Given the description of an element on the screen output the (x, y) to click on. 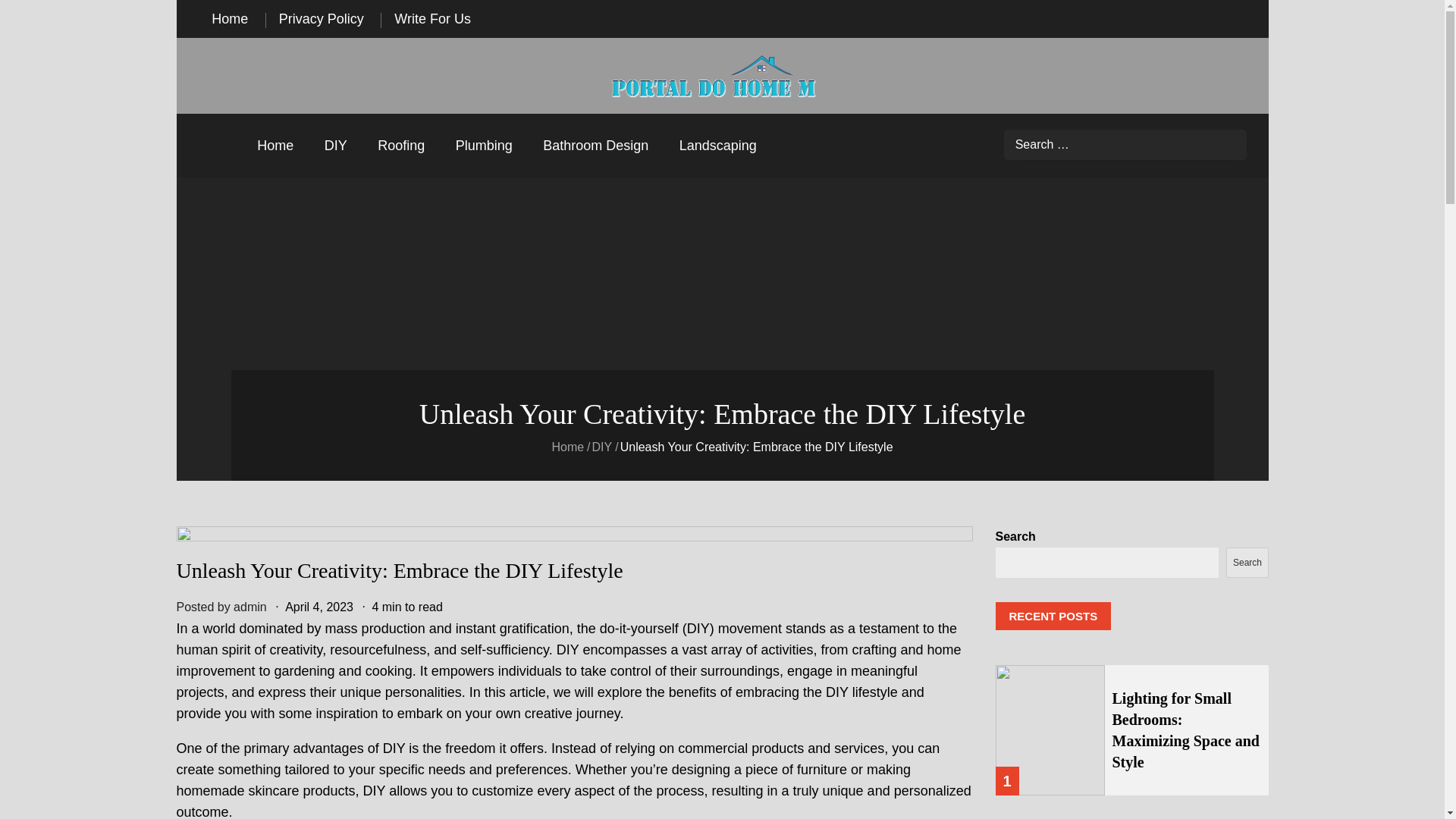
Plumbing (483, 145)
April 4, 2023 (319, 606)
Home (230, 18)
Portal Do Home M (669, 118)
DIY (336, 145)
Roofing (401, 145)
Bathroom Design (595, 145)
admin (249, 606)
Home (567, 446)
Privacy Policy (320, 18)
